Given the description of an element on the screen output the (x, y) to click on. 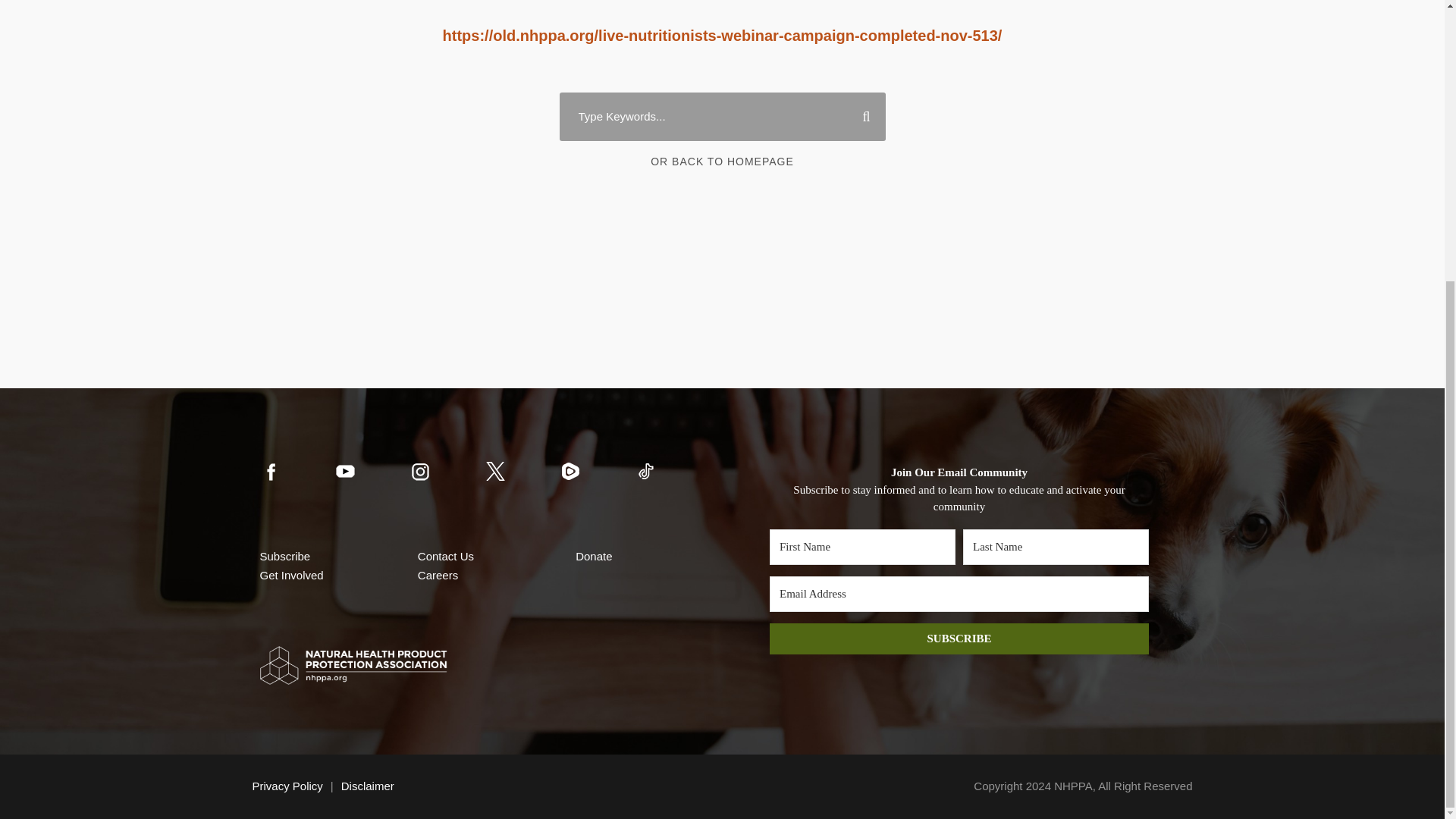
Search (860, 116)
Subscribe (284, 555)
OR BACK TO HOMEPAGE (721, 161)
